Given the description of an element on the screen output the (x, y) to click on. 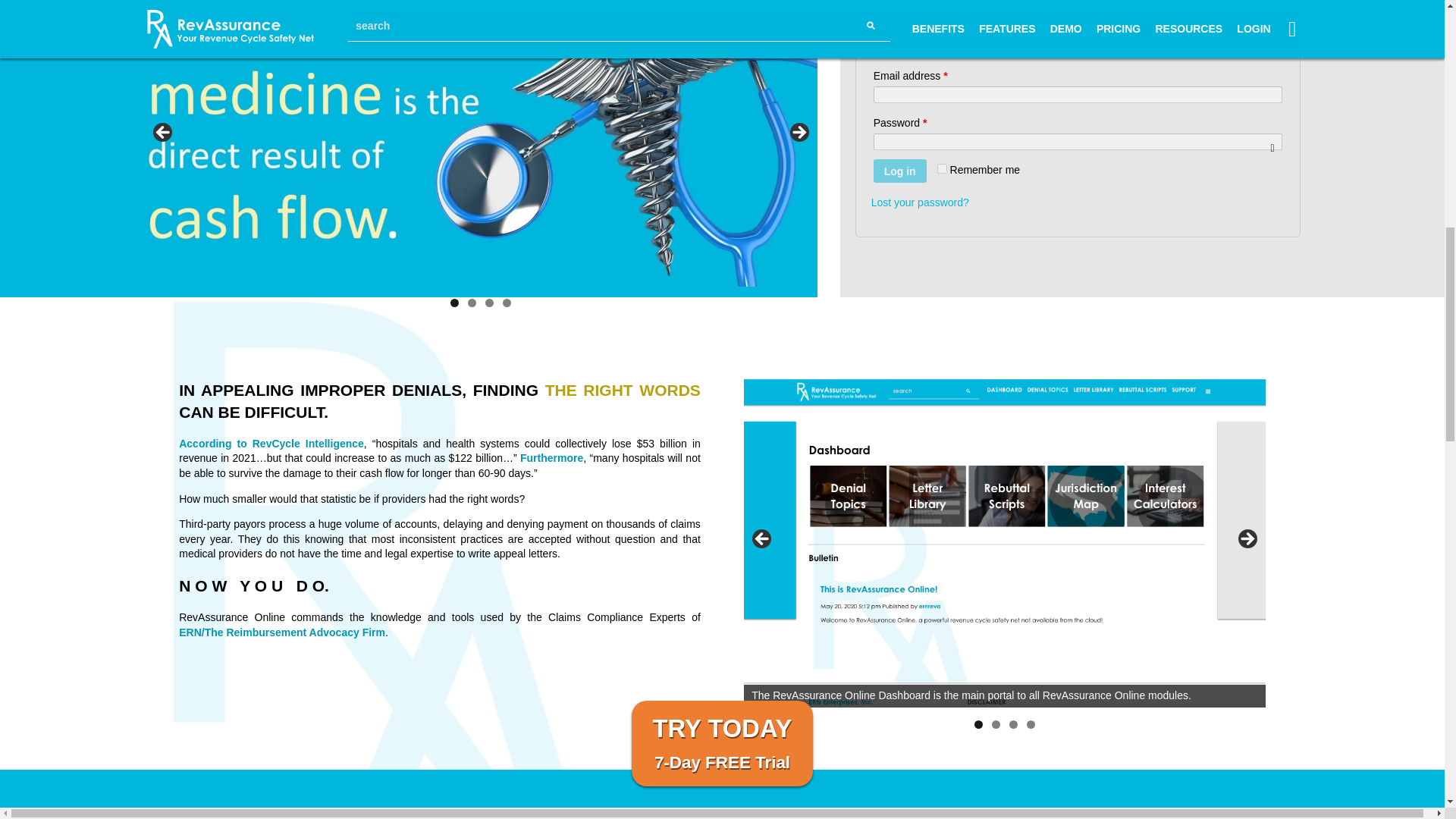
Furthermore (551, 458)
Lost your password? (919, 202)
Log in (899, 170)
4 (1030, 724)
According to RevCycle Intelligence (271, 443)
2 (471, 302)
4 (506, 302)
1 (453, 302)
forever (942, 168)
3 (488, 302)
3 (1013, 724)
2 (995, 724)
